Given the description of an element on the screen output the (x, y) to click on. 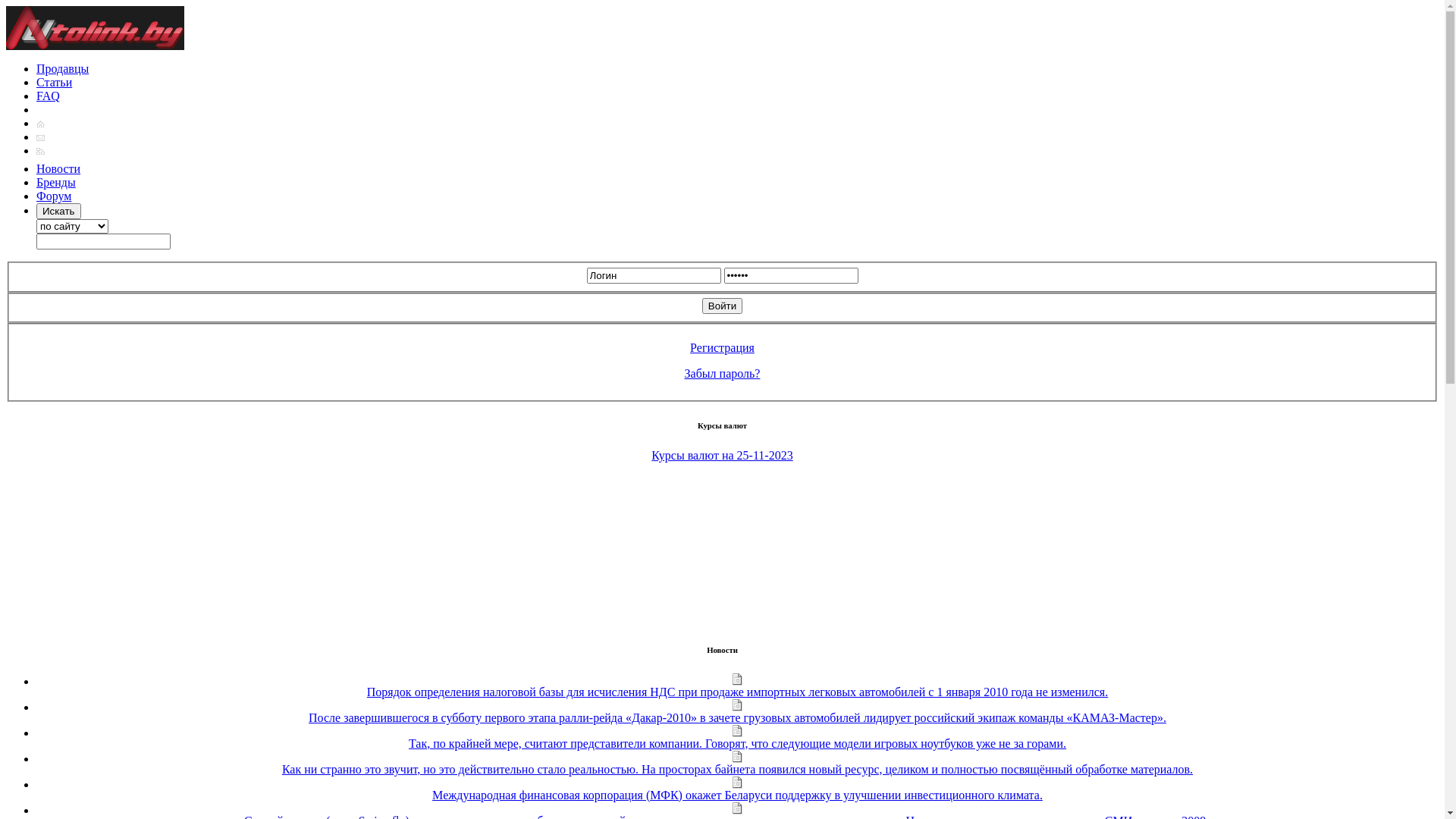
FAQ Element type: text (47, 95)
